Given the description of an element on the screen output the (x, y) to click on. 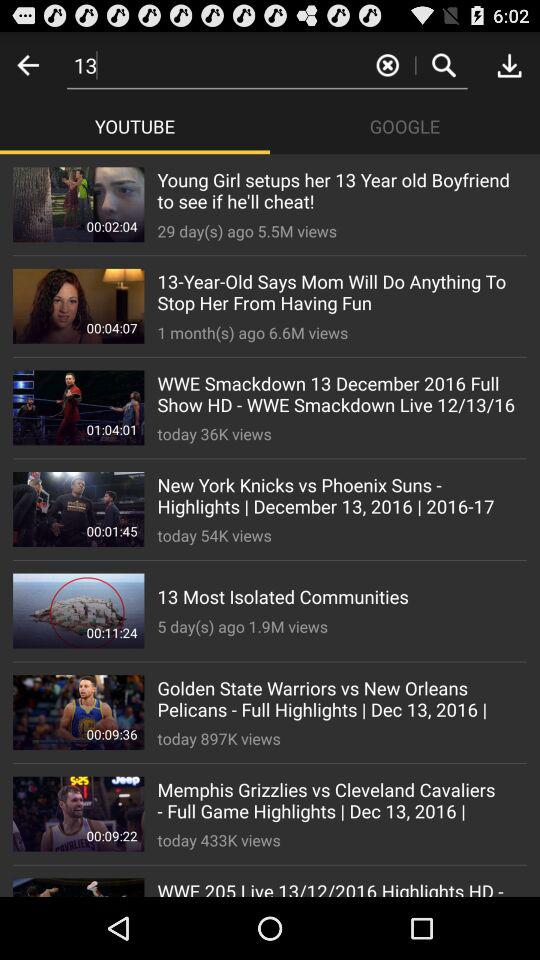
go back (27, 64)
